Given the description of an element on the screen output the (x, y) to click on. 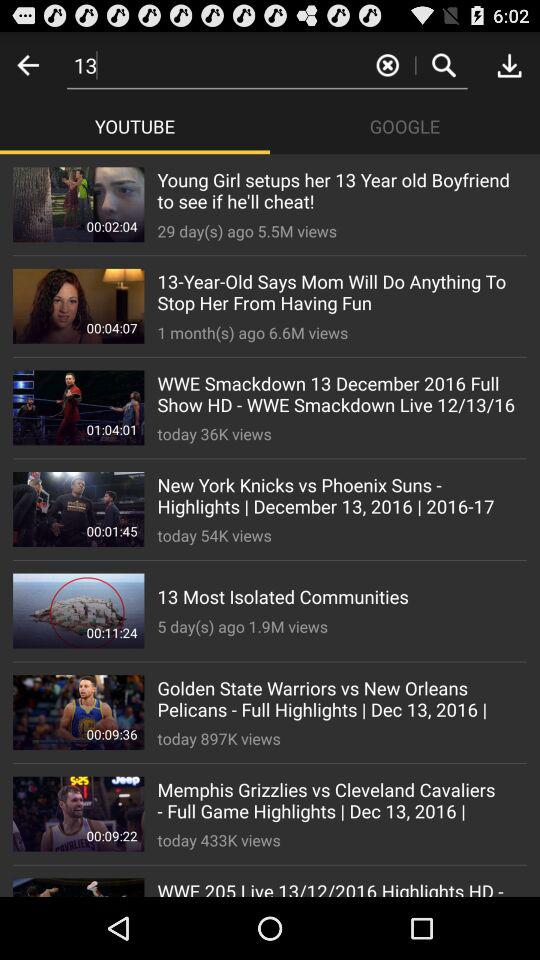
go back (27, 64)
